Given the description of an element on the screen output the (x, y) to click on. 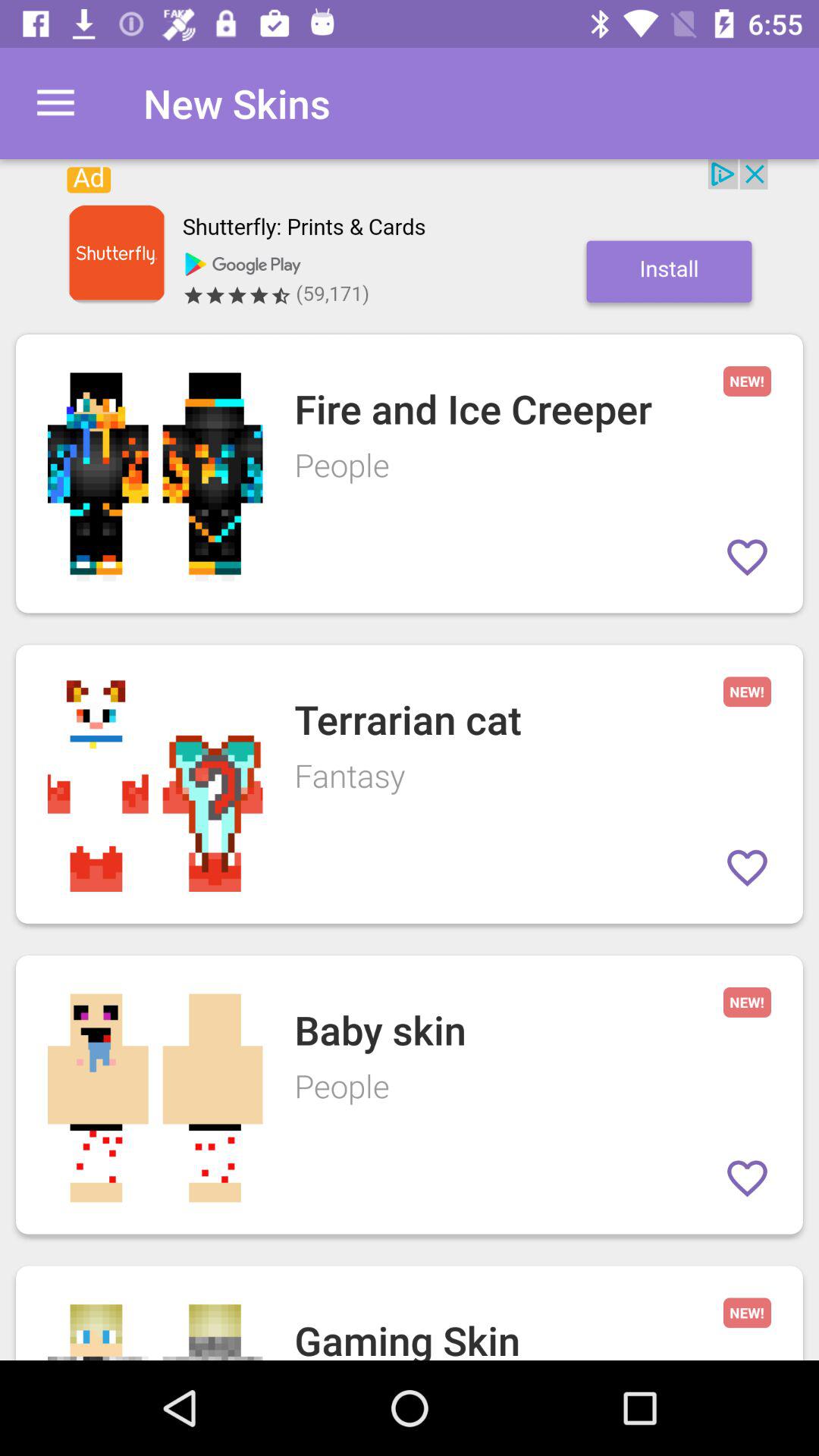
like/favorites skin (747, 1178)
